Given the description of an element on the screen output the (x, y) to click on. 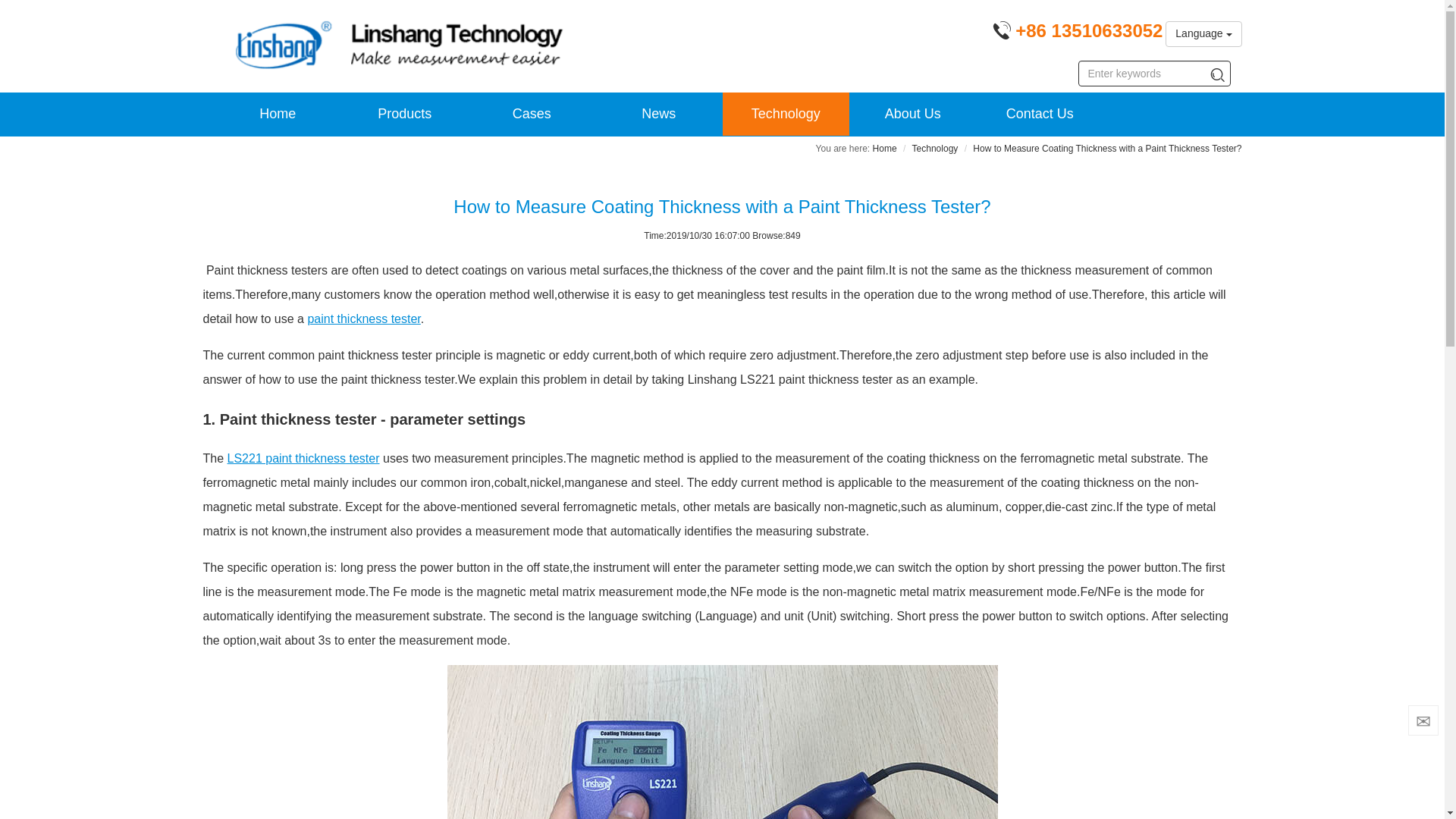
Home (277, 113)
News (658, 113)
Language (1203, 33)
Cases (531, 113)
Products (404, 113)
